Given the description of an element on the screen output the (x, y) to click on. 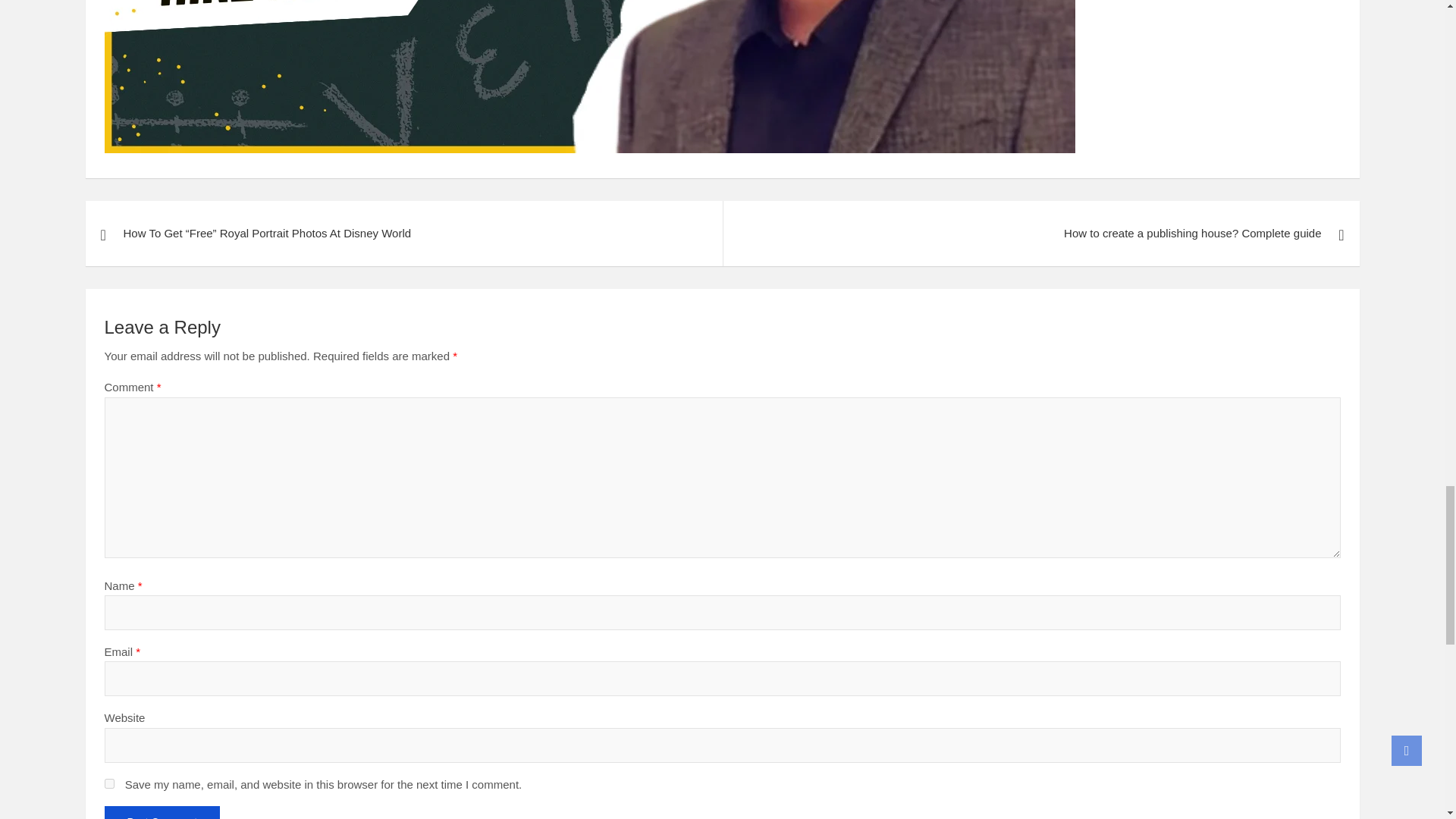
How to create a publishing house? Complete guide (1040, 233)
Post Comment (162, 812)
yes (109, 782)
Post Comment (162, 812)
